Given the description of an element on the screen output the (x, y) to click on. 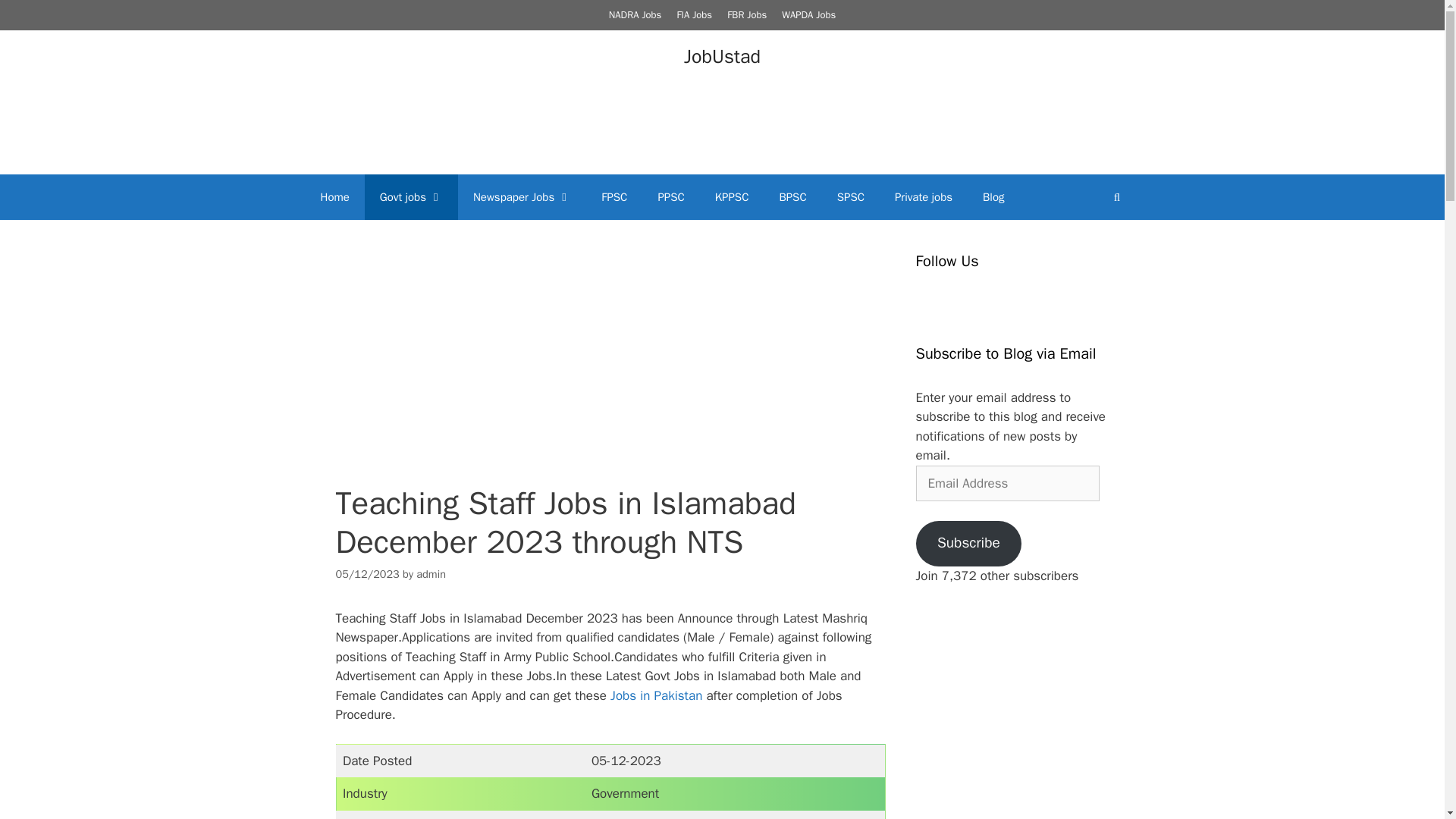
PPSC (670, 197)
JobUstad (722, 55)
KPPSC (732, 197)
NADRA Jobs (635, 14)
FIA Jobs (694, 14)
Newspaper Jobs (522, 197)
SPSC (850, 197)
FPSC (614, 197)
Govt jobs (411, 197)
View all posts by admin (430, 573)
